Given the description of an element on the screen output the (x, y) to click on. 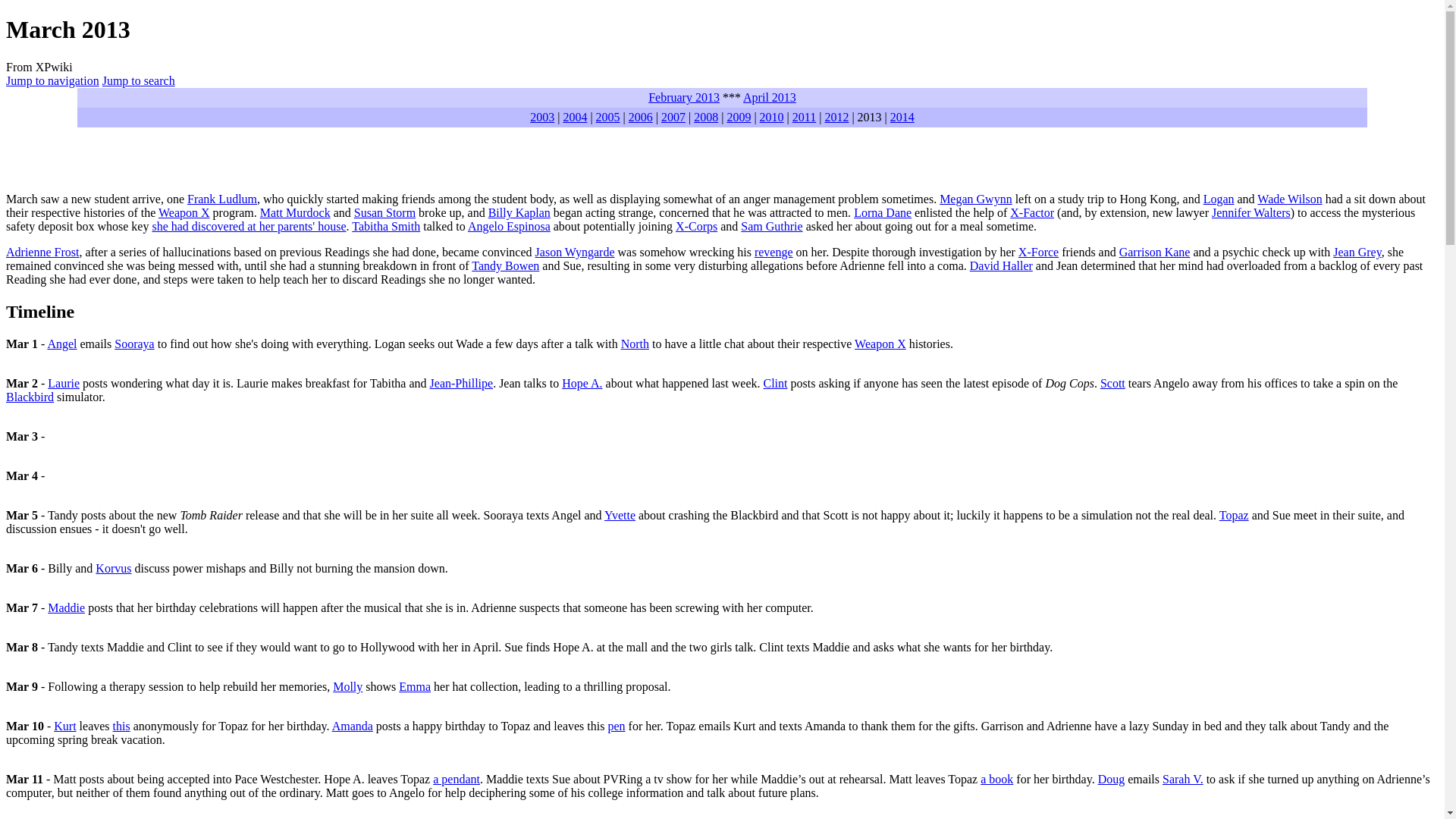
March 2014 (901, 116)
2006 (640, 116)
2013 (869, 116)
Weapon X (183, 212)
2003 (541, 116)
March 2007 (673, 116)
Billy Kaplan (518, 212)
Jennifer Walters (1250, 212)
April 2013 (769, 97)
Wade Wilson (1289, 198)
Wade Wilson (1289, 198)
March 2009 (738, 116)
March 2012 (836, 116)
Susan Storm (383, 212)
2010 (772, 116)
